Given the description of an element on the screen output the (x, y) to click on. 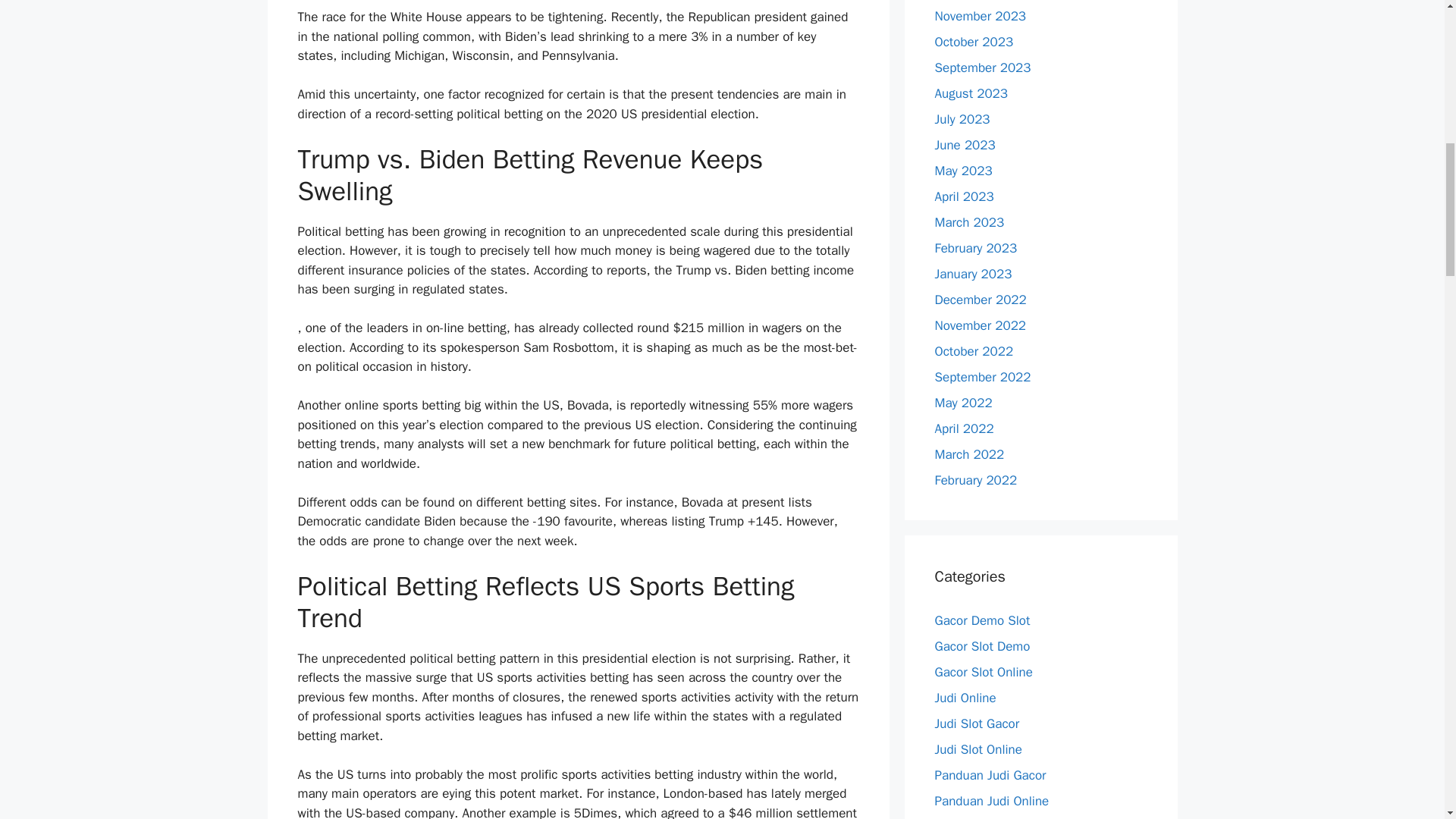
October 2023 (973, 41)
June 2023 (964, 144)
August 2023 (970, 92)
May 2023 (962, 170)
July 2023 (962, 118)
September 2023 (982, 66)
November 2023 (980, 15)
April 2023 (963, 195)
